Given the description of an element on the screen output the (x, y) to click on. 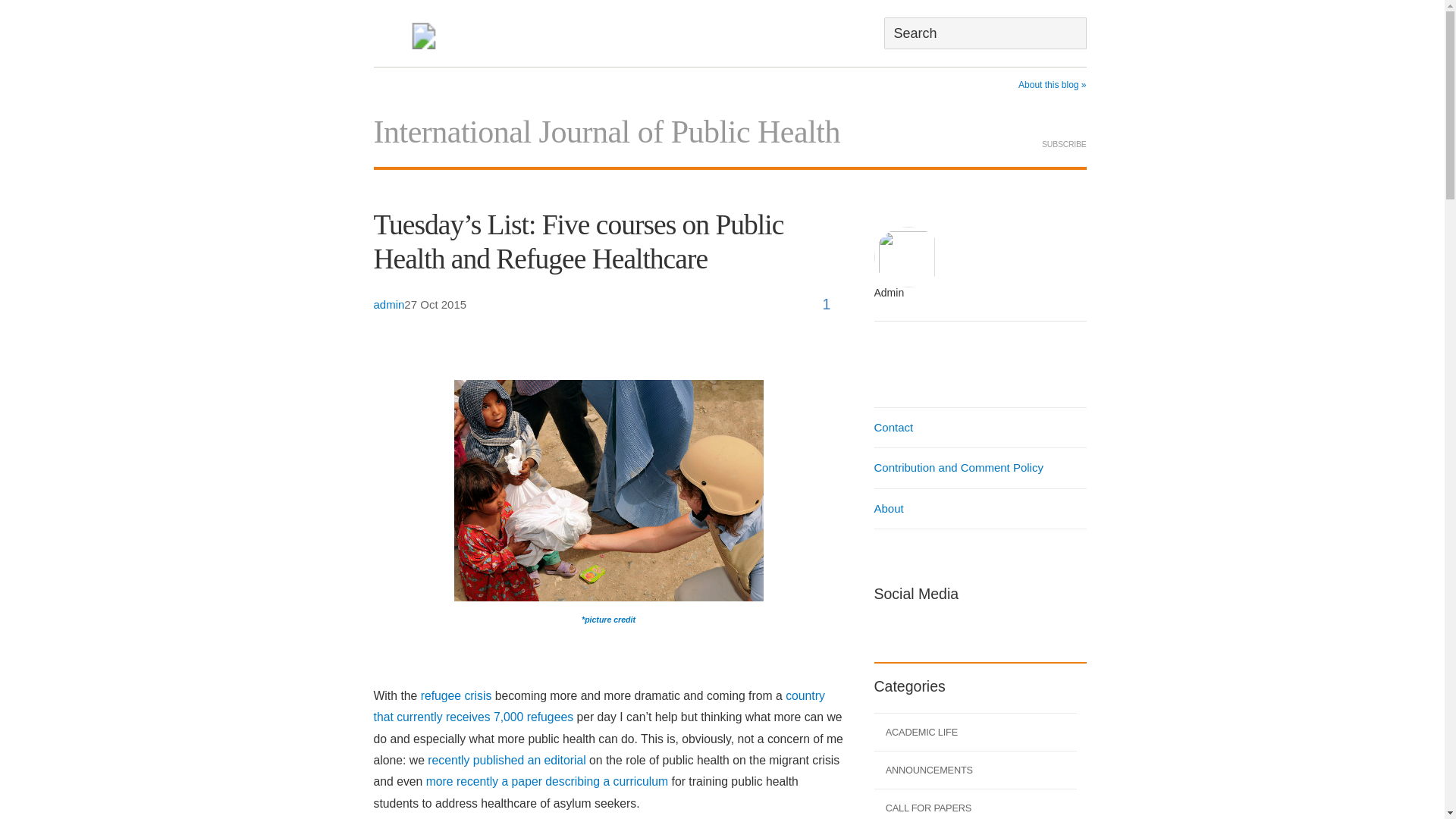
more recently a paper describing a curriculum (545, 780)
refugee crisis (456, 695)
Visit Springer (422, 38)
admin (903, 282)
International Journal of Public Health (606, 131)
Posts by admin (388, 304)
recently published an editorial (506, 759)
SUBSCRIBE (1064, 131)
admin (388, 304)
country that currently receives 7,000 refugees (598, 706)
